Given the description of an element on the screen output the (x, y) to click on. 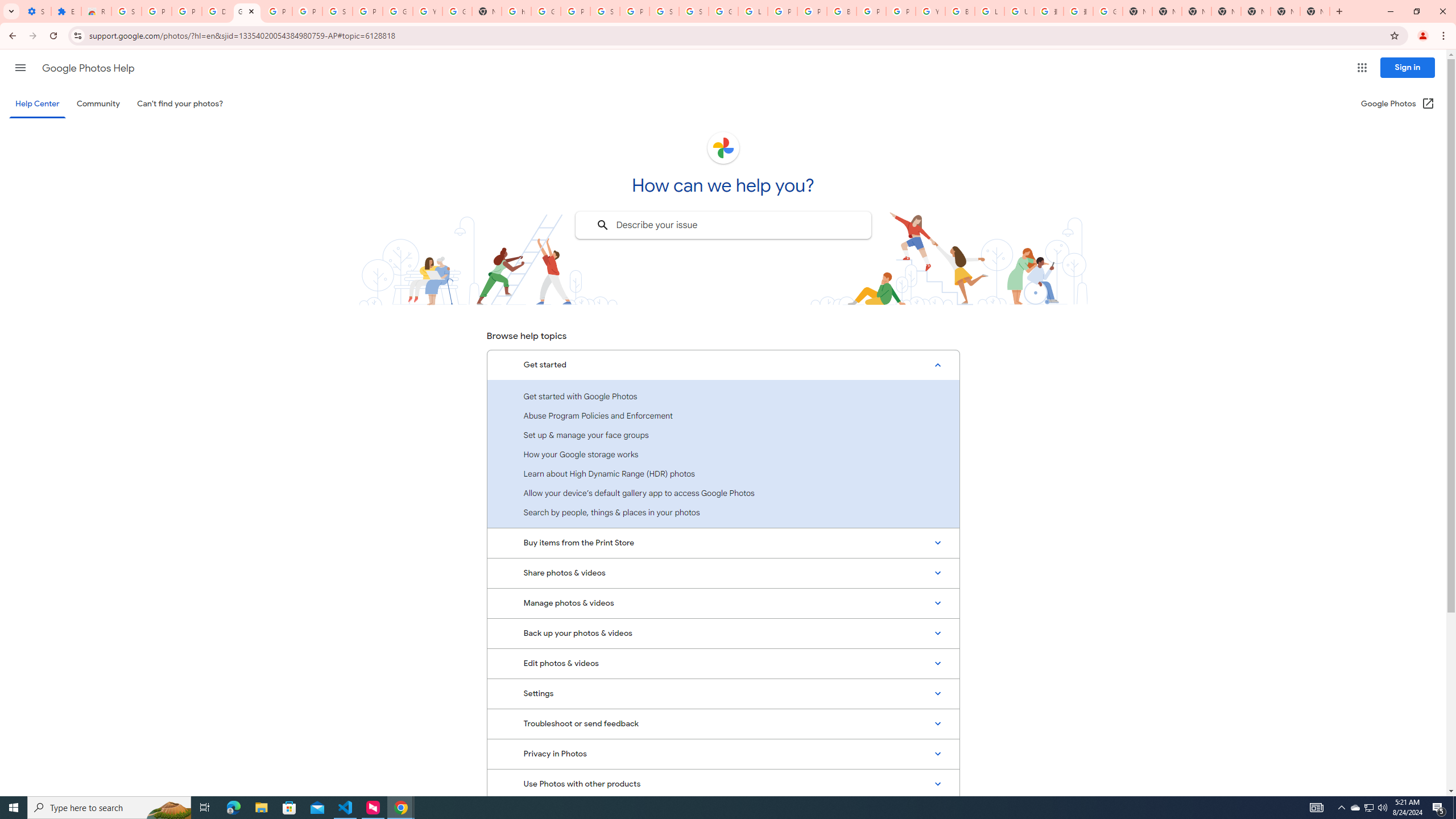
Buy items from the Print Store (722, 542)
Search by people, things & places in your photos (722, 512)
Use Photos with other products (722, 784)
How your Google storage works (722, 454)
Privacy Help Center - Policies Help (811, 11)
Get started with Google Photos (722, 396)
Privacy Help Center - Policies Help (782, 11)
Set up & manage your face groups (722, 434)
Manage photos & videos (722, 603)
Google Photos Help (87, 68)
